Given the description of an element on the screen output the (x, y) to click on. 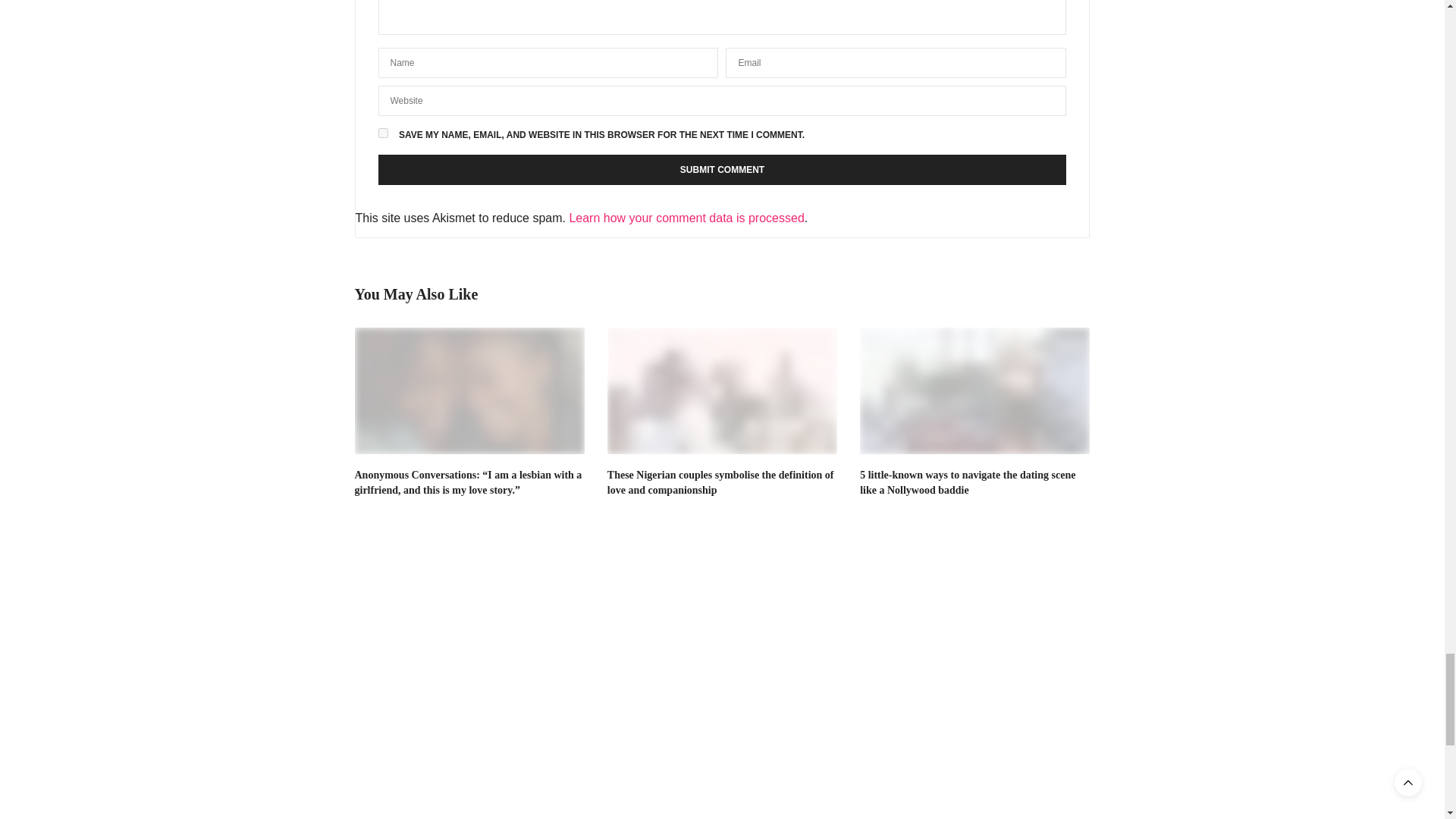
Submit Comment (721, 169)
yes (382, 132)
